Given the description of an element on the screen output the (x, y) to click on. 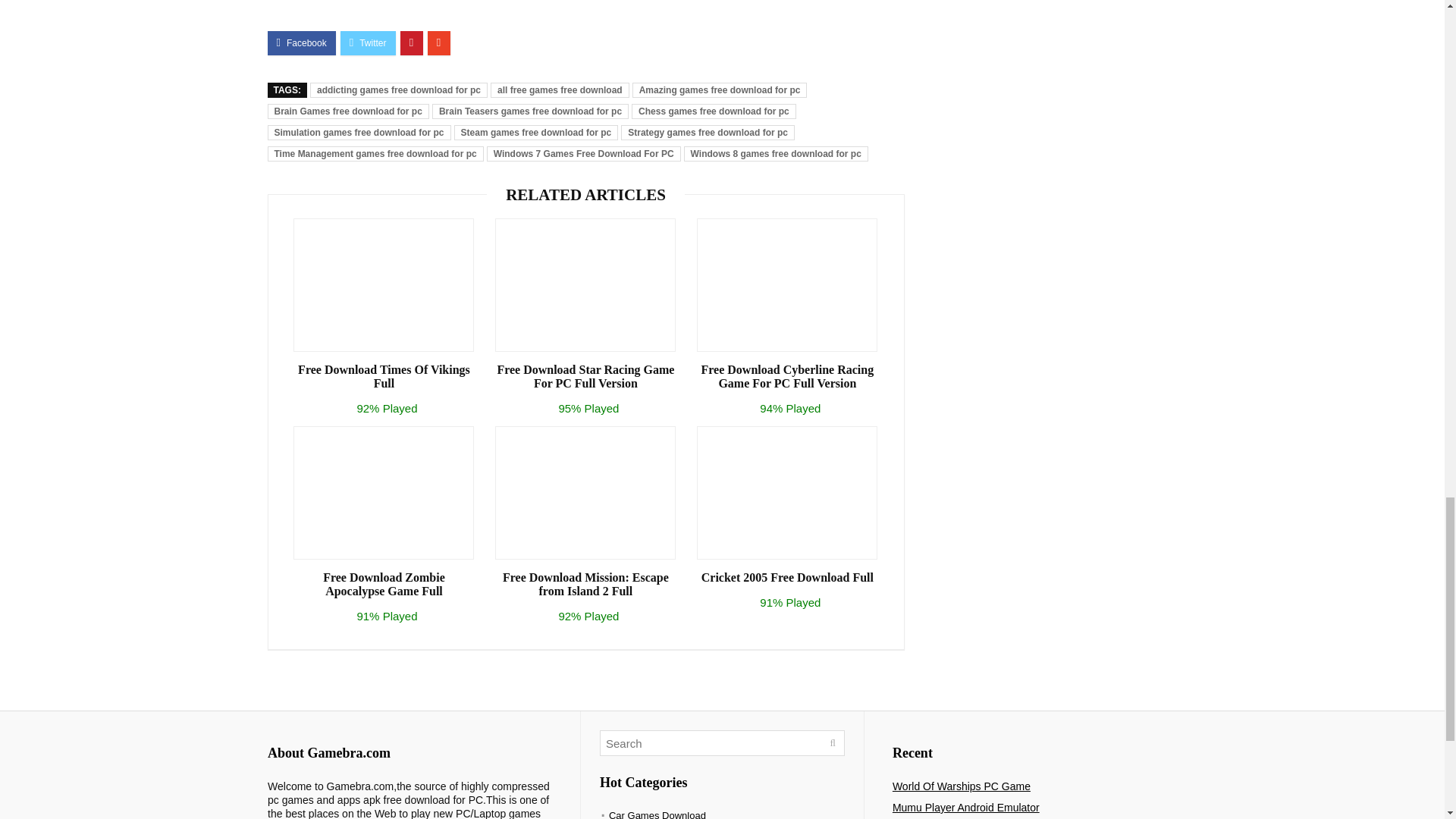
Free Download Zombie Apocalypse Game Full (384, 584)
Free Download Mission: Escape from Island 2 Full (585, 584)
Free Download Star Racing Game For PC Full Version (585, 376)
Cricket 2005 Free Download Full (787, 577)
Free Download Times Of Vikings Full (384, 376)
Free Download Cyberline Racing Game For PC Full Version (787, 376)
